Given the description of an element on the screen output the (x, y) to click on. 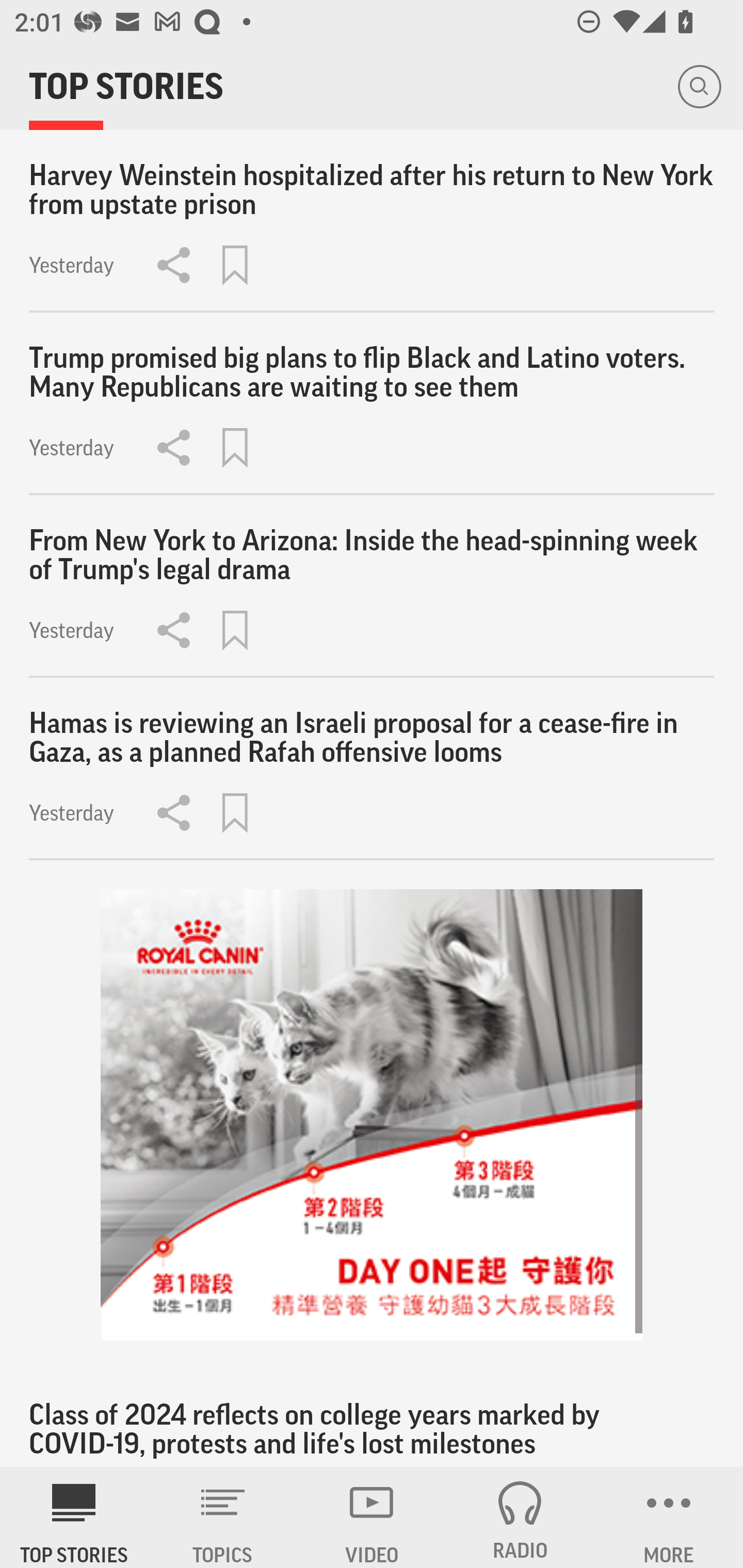
AP News TOP STORIES (74, 1517)
TOPICS (222, 1517)
VIDEO (371, 1517)
RADIO (519, 1517)
MORE (668, 1517)
